Given the description of an element on the screen output the (x, y) to click on. 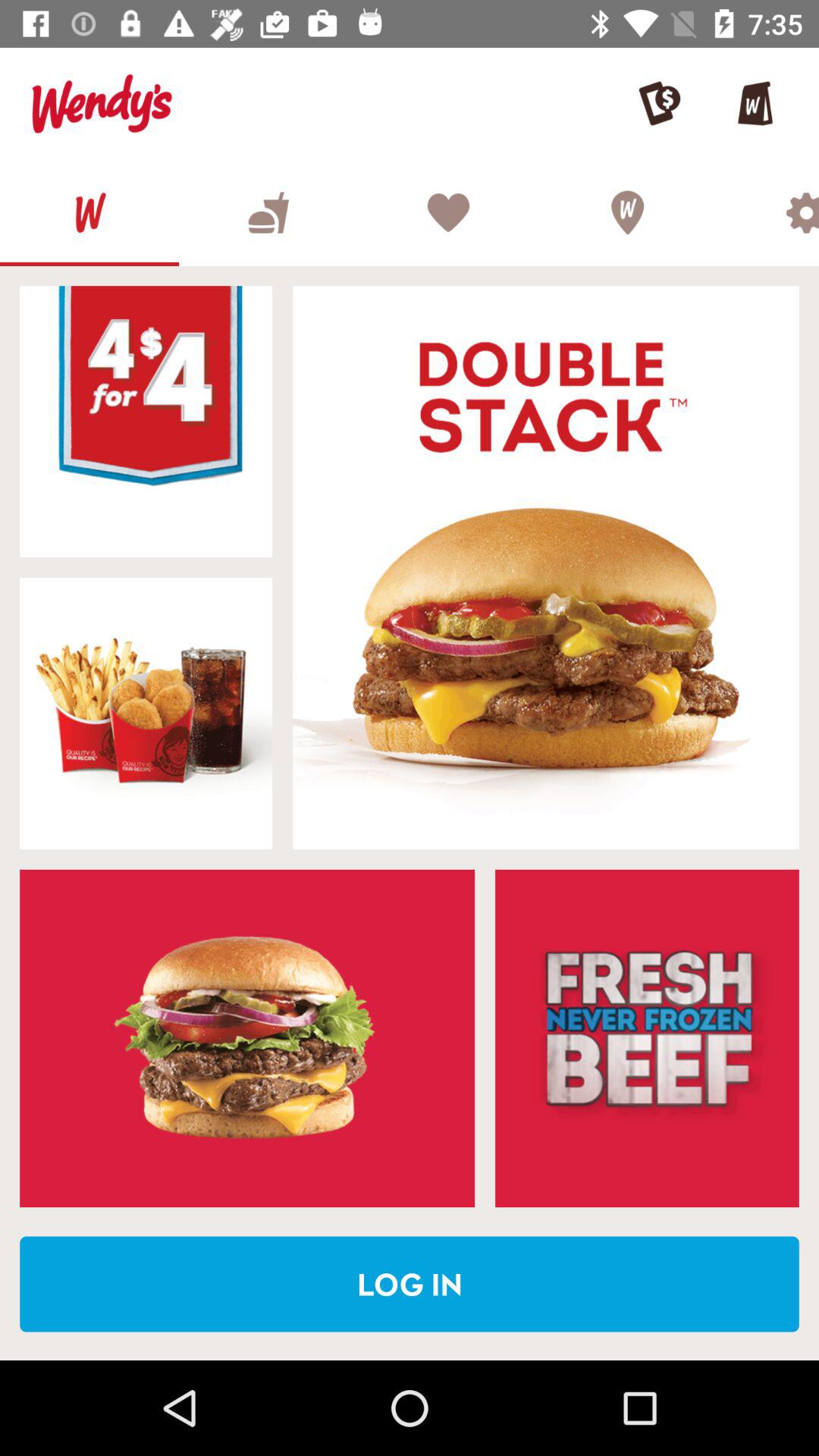
goes to options (767, 212)
